Given the description of an element on the screen output the (x, y) to click on. 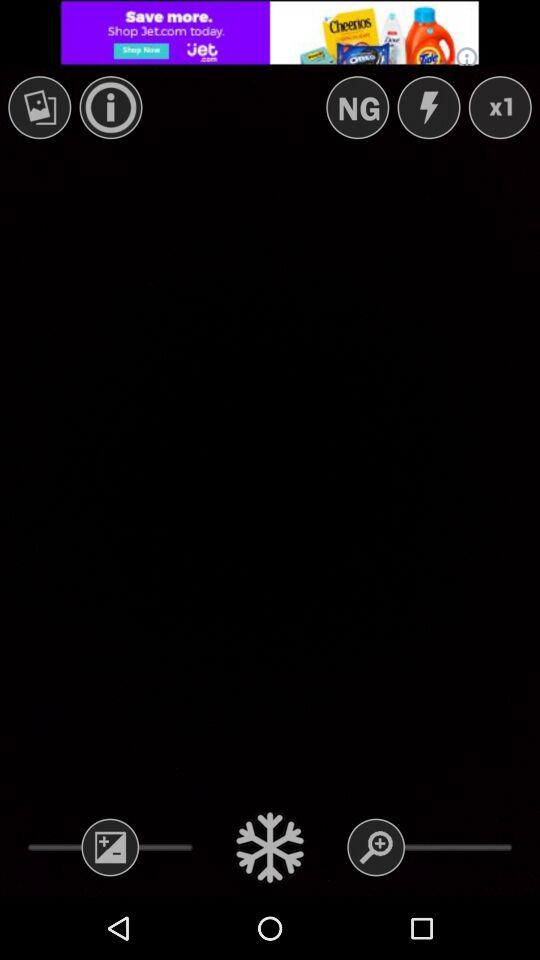
open advertisement (270, 32)
